Given the description of an element on the screen output the (x, y) to click on. 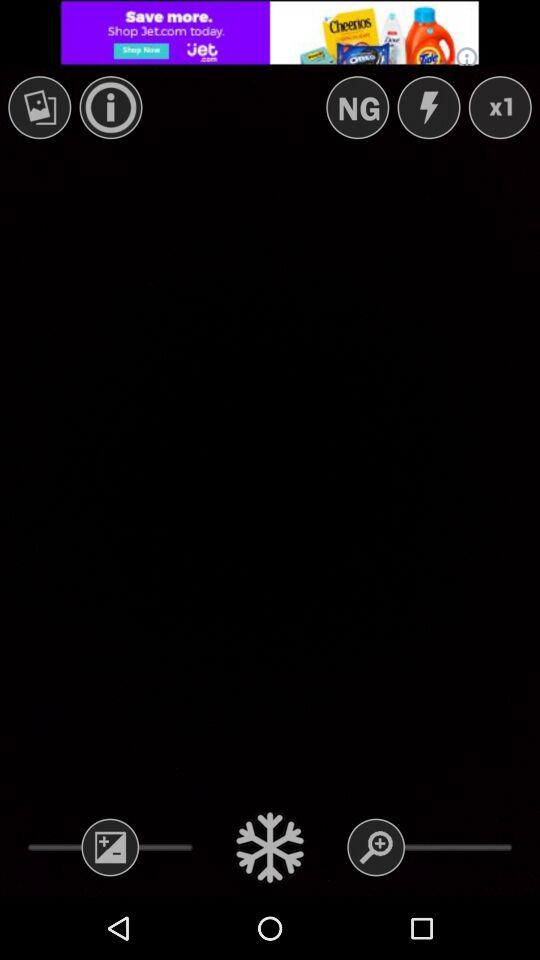
open advertisement (270, 32)
